Given the description of an element on the screen output the (x, y) to click on. 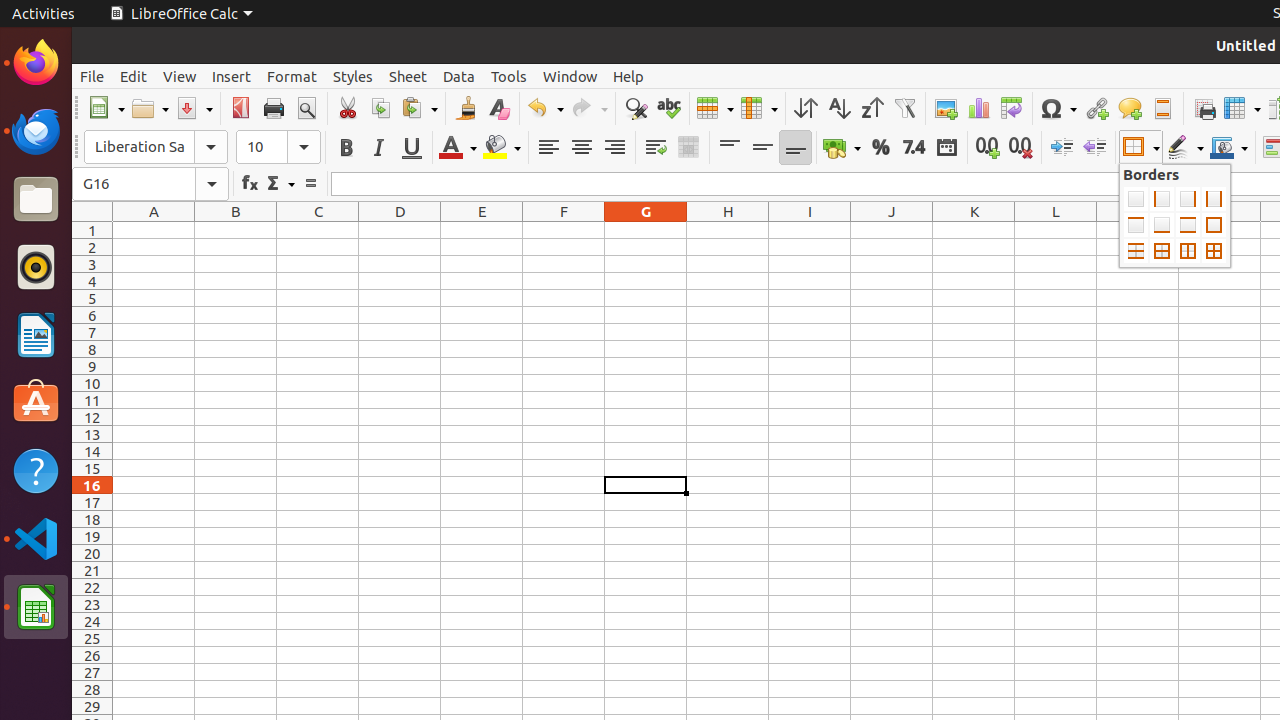
Save Element type: push-button (194, 108)
Clone Element type: push-button (465, 108)
Print Element type: push-button (273, 108)
Headers and Footers Element type: push-button (1162, 108)
Hyperlink Element type: toggle-button (1096, 108)
